Given the description of an element on the screen output the (x, y) to click on. 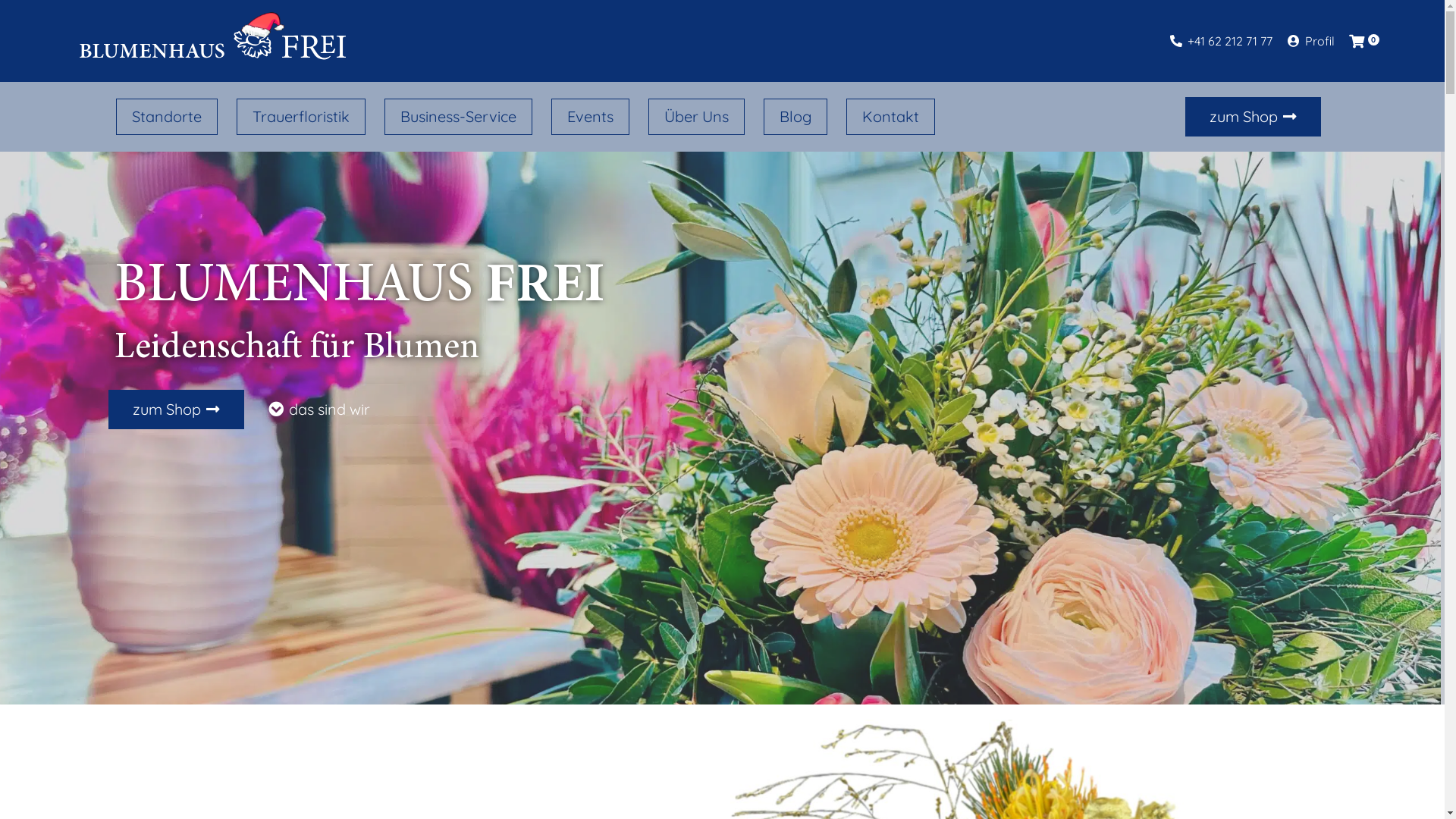
zum Shop Element type: text (1253, 116)
zum Shop Element type: text (176, 409)
Standorte Element type: text (166, 116)
Trauerfloristik Element type: text (300, 116)
Business-Service Element type: text (458, 116)
Events Element type: text (590, 116)
Profil Element type: text (1310, 40)
das sind wir Element type: text (319, 409)
Blog Element type: text (795, 116)
+41 62 212 71 77 Element type: text (1221, 40)
Kontakt Element type: text (890, 116)
